Given the description of an element on the screen output the (x, y) to click on. 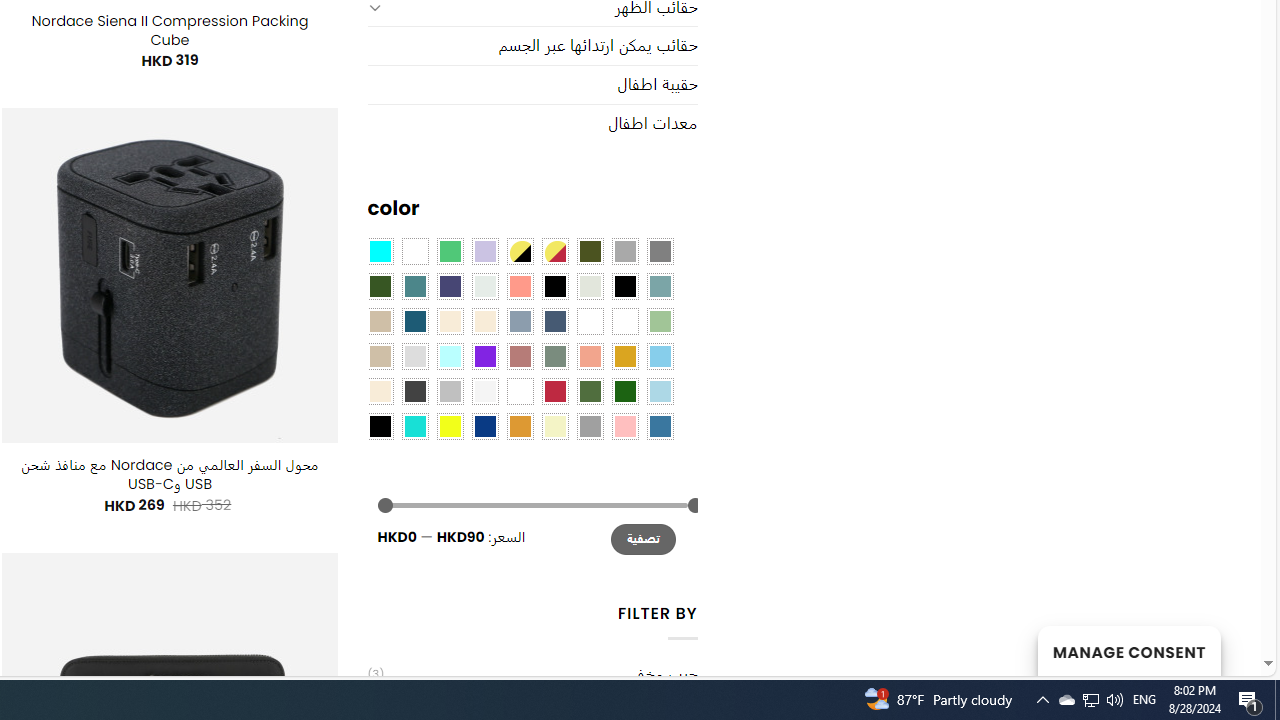
Mint (449, 355)
Dusty Blue (519, 321)
Light Taupe (379, 355)
Dull Nickle (484, 285)
Teal (414, 285)
Yellow-Black (519, 251)
Capri Blue (414, 321)
Light-Gray (414, 355)
Emerald Green (449, 251)
